Given the description of an element on the screen output the (x, y) to click on. 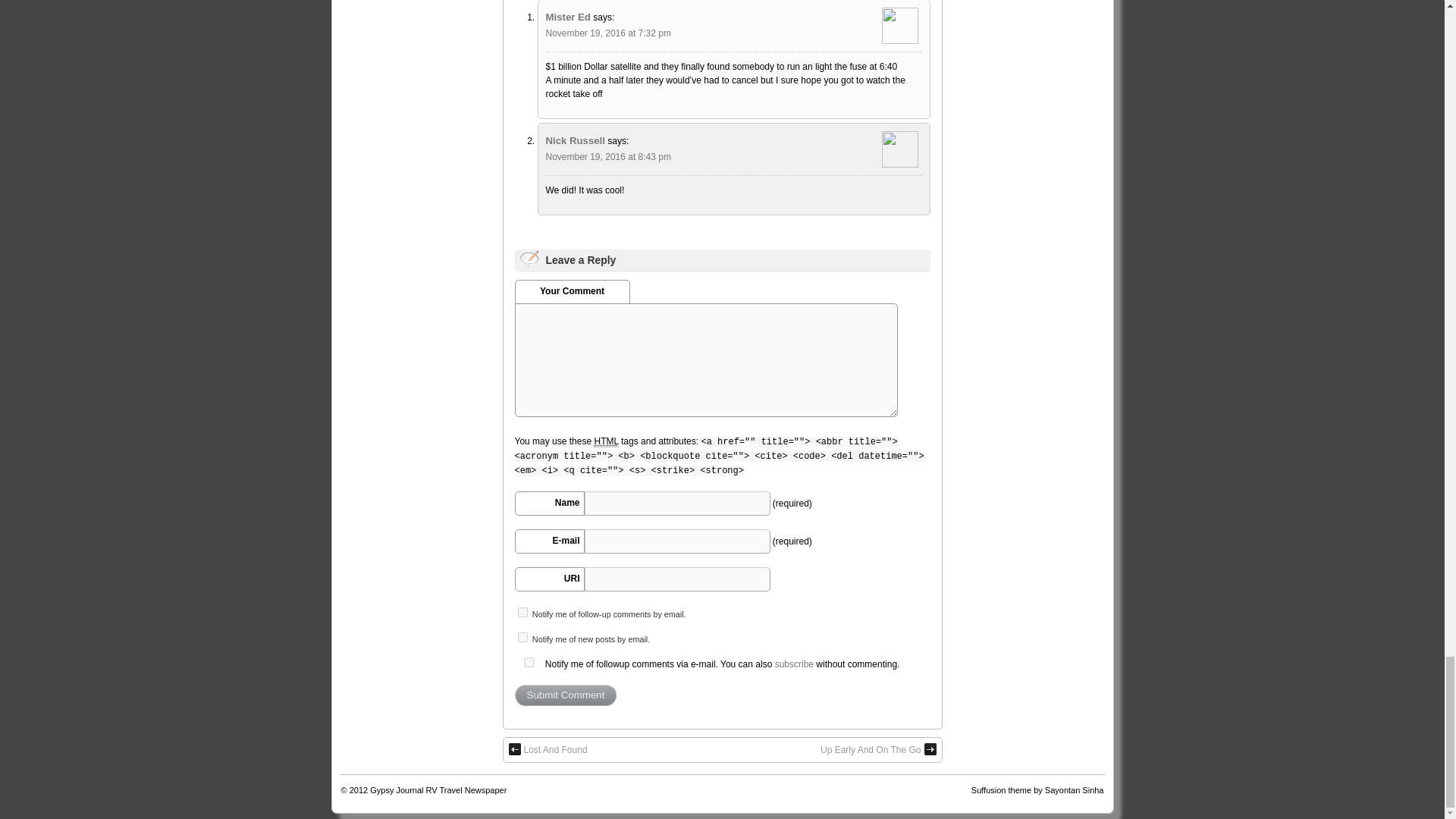
yes (528, 662)
HyperText Markup Language (605, 441)
subscribe (521, 612)
subscribe (521, 637)
Submit Comment (564, 694)
